Given the description of an element on the screen output the (x, y) to click on. 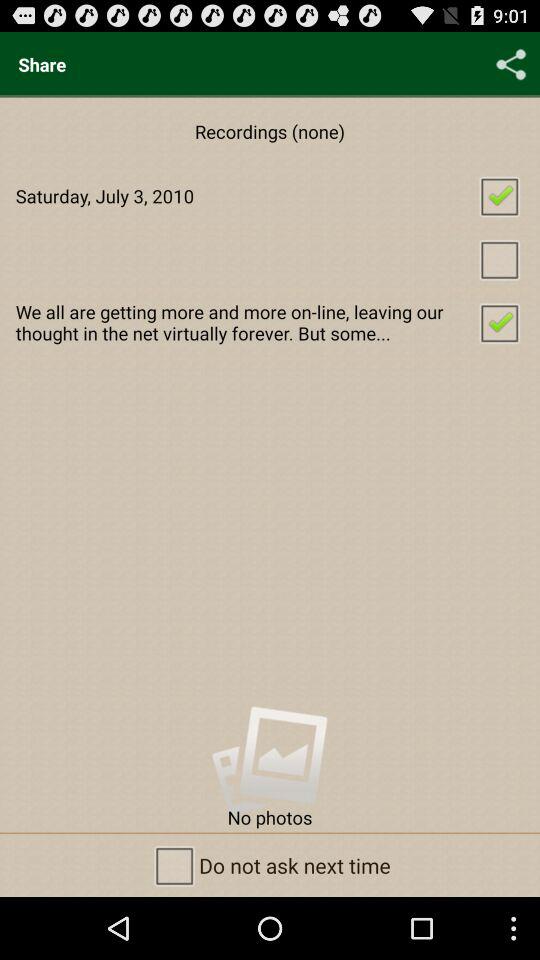
jump until the do not ask (269, 864)
